Given the description of an element on the screen output the (x, y) to click on. 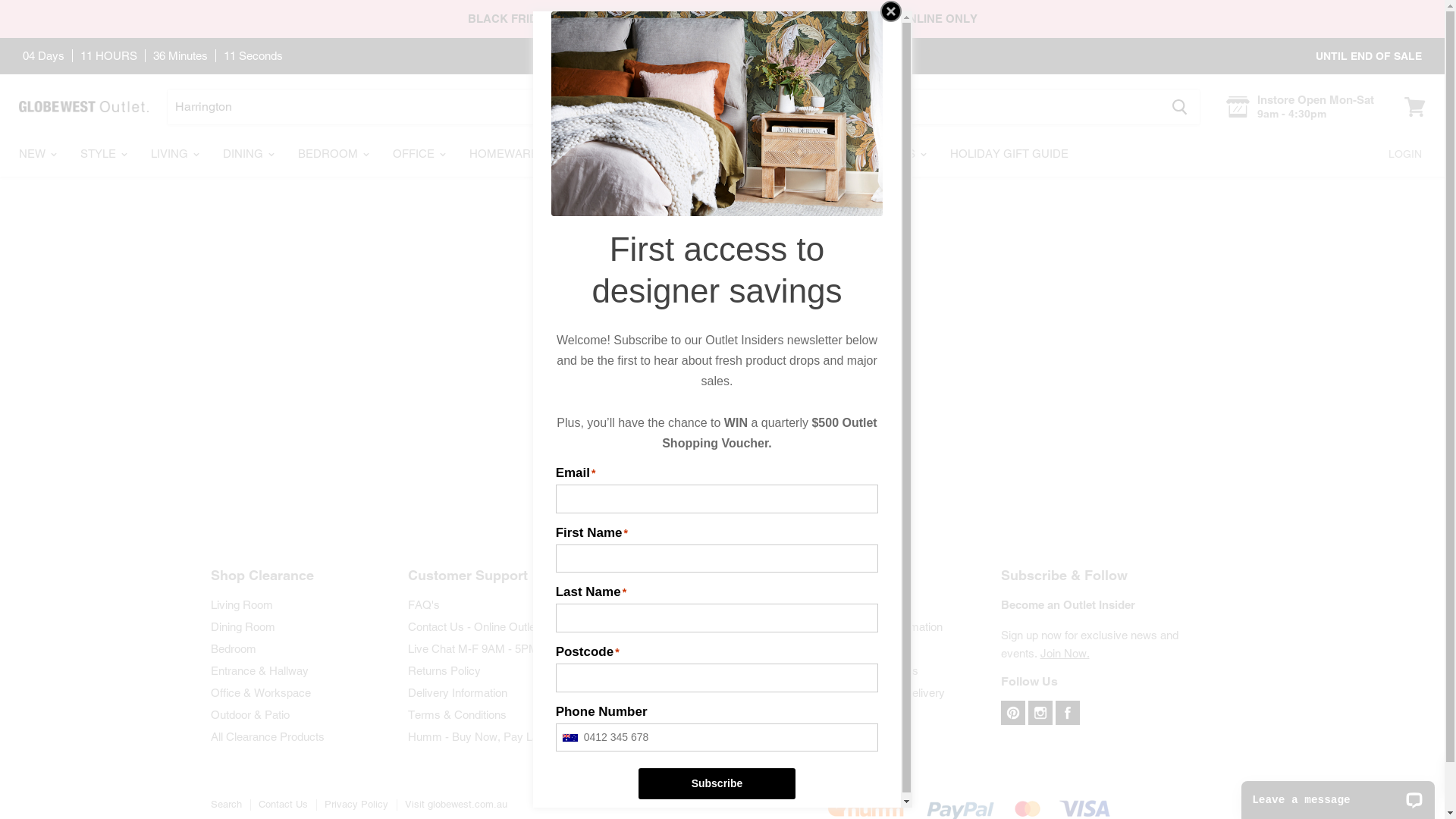
Request a Virtual Visit Element type: text (659, 626)
BLOG Element type: text (826, 153)
HOLIDAY GIFT GUIDE Element type: text (1008, 153)
OFFERS Element type: text (757, 154)
UNTIL END OF SALE Element type: text (1368, 55)
LIVING Element type: text (173, 154)
Join Now. Element type: text (1064, 652)
How to Measure for Delivery Element type: text (873, 692)
Outdoor & Patio Element type: text (249, 714)
Bedroom Element type: text (233, 648)
ALL Element type: text (689, 154)
Humm - Buy Now, Pay Later Element type: text (479, 736)
NEW Element type: text (36, 154)
Live Chat M-F 9AM - 5PM Element type: text (472, 648)
Product Care Element type: text (836, 714)
HOMEWARES Element type: text (512, 154)
Contact Us - Online Outlet Element type: text (472, 626)
VISIT US Element type: text (895, 154)
Contact & Store Information Element type: text (673, 604)
Delivery Information Element type: text (457, 692)
Trade Customer Information Element type: text (872, 626)
View cart Element type: text (1414, 106)
LOGIN Element type: text (1404, 153)
Search Element type: text (225, 803)
FAQ's Element type: text (423, 604)
OUTDOOR Element type: text (614, 154)
Terms & Conditions Element type: text (456, 714)
About Us Element type: text (826, 604)
Contact Us Element type: text (282, 803)
Inspiration & Interviews Element type: text (860, 670)
BEDROOM Element type: text (332, 154)
DINING Element type: text (247, 154)
All Clearance Products Element type: text (267, 736)
STYLE Element type: text (102, 154)
Visit globewest.com.au Element type: text (455, 803)
CONTINUE SHOPPING Element type: text (722, 347)
Competitions Element type: text (835, 648)
Review Us on Facebook Element type: text (666, 648)
Entrance & Hallway Element type: text (259, 670)
Returns Policy Element type: text (443, 670)
Privacy Policy Element type: text (356, 803)
Office & Workspace Element type: text (260, 692)
Living Room Element type: text (241, 604)
OFFICE Element type: text (418, 154)
Dining Room Element type: text (242, 626)
